Given the description of an element on the screen output the (x, y) to click on. 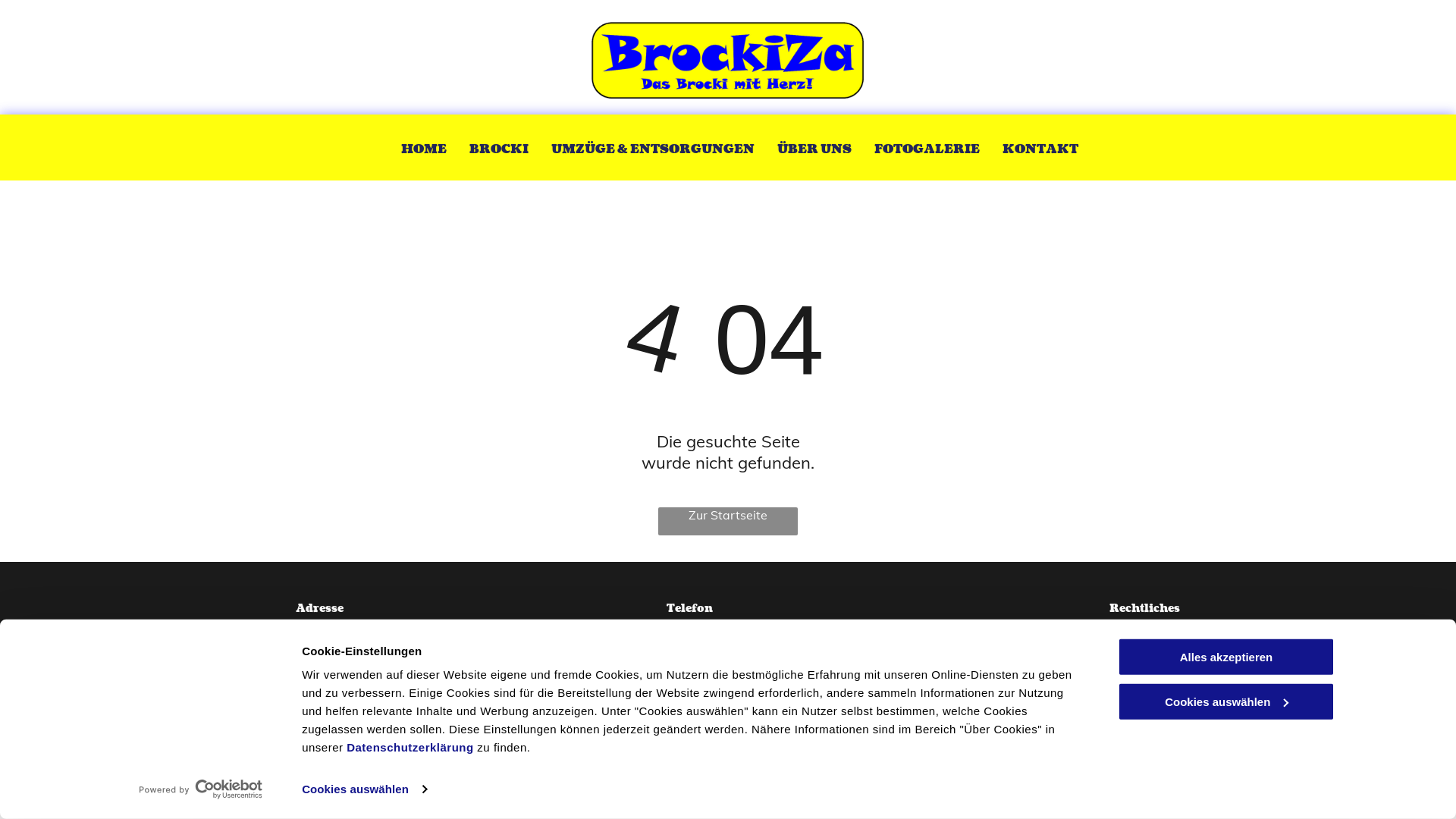
KONTAKT Element type: text (1040, 147)
Impressum Element type: text (1138, 625)
044 720 19 70 Element type: text (700, 625)
patrick.zanella@hispeed.ch Element type: text (735, 694)
Zur Startseite Element type: text (727, 521)
079 236 73 73 Element type: text (699, 644)
BROCKI Element type: text (497, 147)
HOME Element type: text (422, 147)
Alles akzeptieren Element type: text (1225, 656)
FOTOGALERIE Element type: text (926, 147)
